Given the description of an element on the screen output the (x, y) to click on. 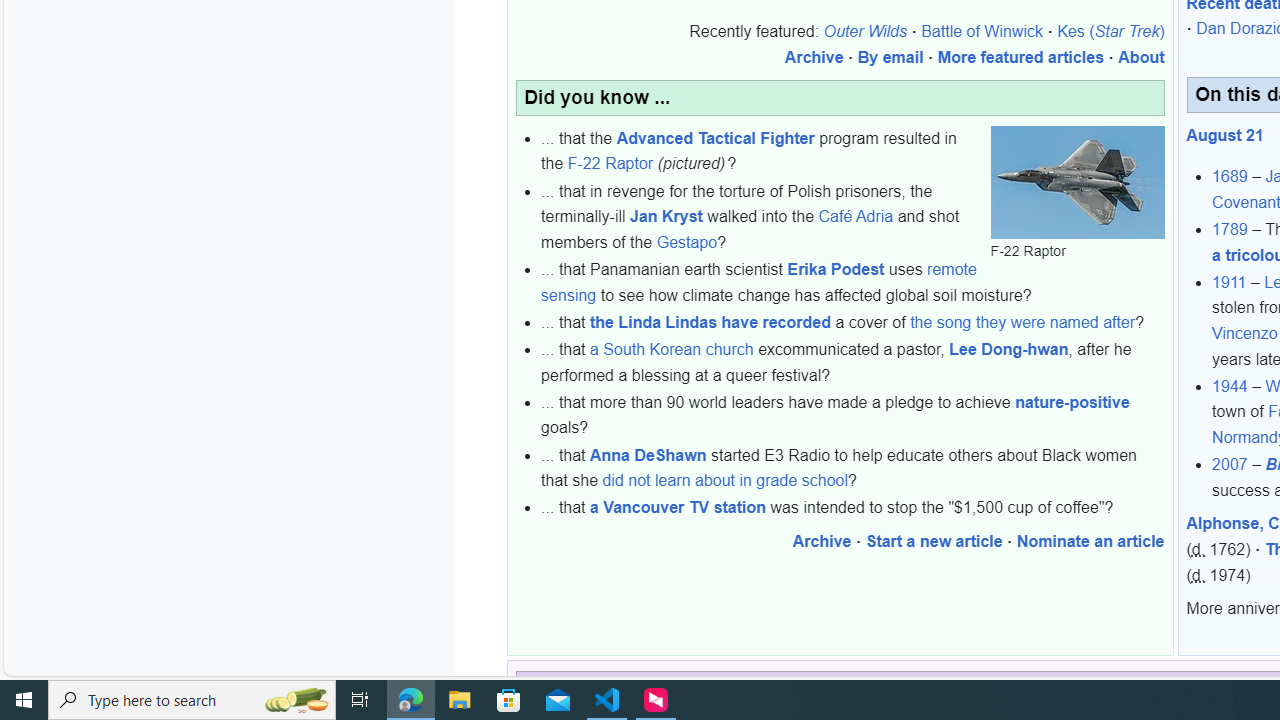
Battle of Winwick (982, 32)
Erika Podest (835, 269)
the Linda Lindas have recorded (710, 322)
